Given the description of an element on the screen output the (x, y) to click on. 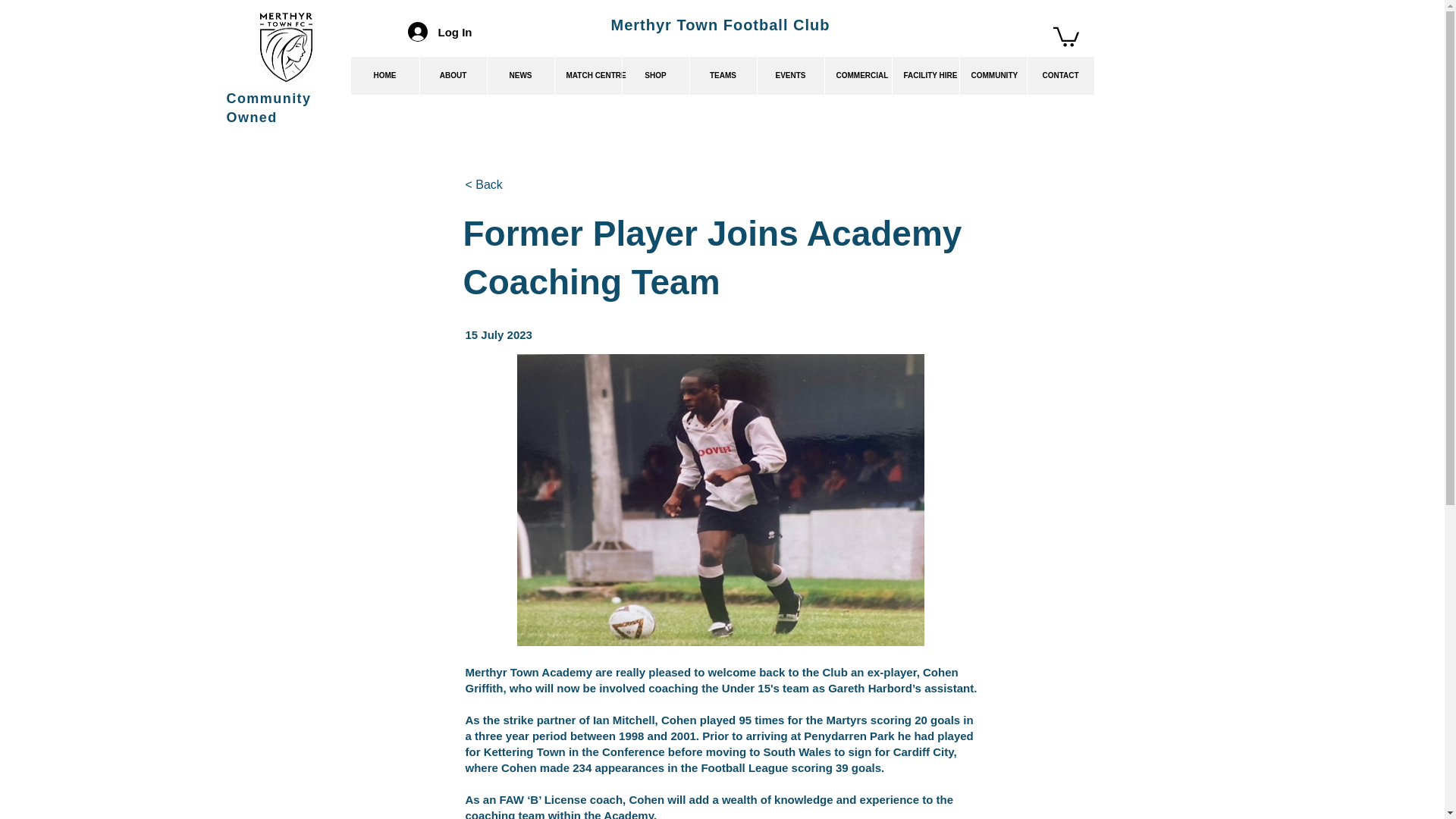
EVENTS (790, 75)
MTFC-badge.jpg (286, 46)
Merthyr Town Football Club (720, 24)
CONTACT (1060, 75)
ABOUT (452, 75)
Community Owned (268, 107)
TEAMS (721, 75)
COMMERCIAL (857, 75)
COMMUNITY (992, 75)
Cohen Griffith.png (720, 499)
HOME (384, 75)
FACILITY HIRE (925, 75)
Log In (440, 31)
MATCH CENTRE (587, 75)
NEWS (520, 75)
